Given the description of an element on the screen output the (x, y) to click on. 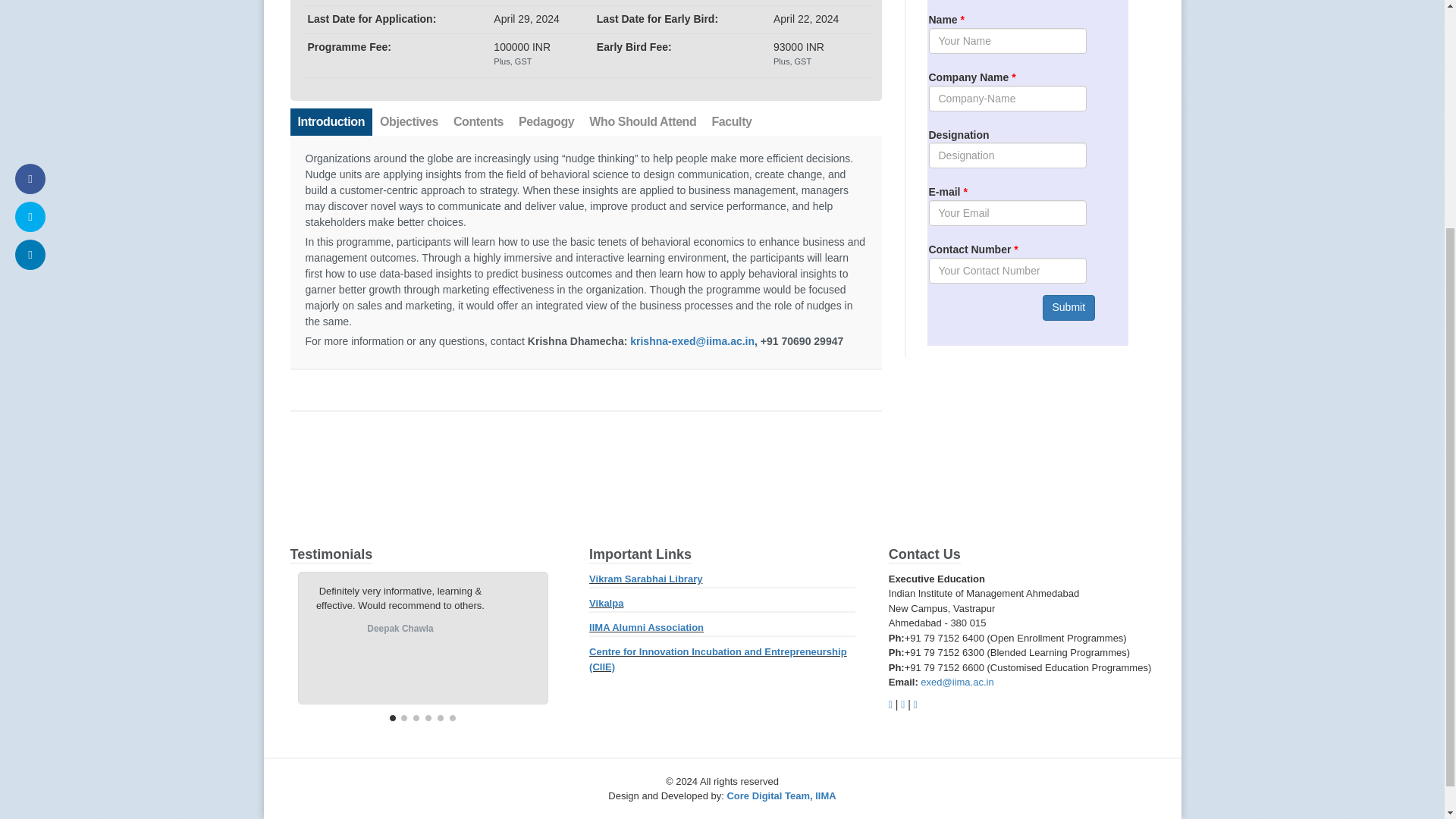
Vikalpa (606, 603)
Faculty (730, 121)
Linkedin (915, 704)
Facebook (890, 704)
Core Digital Team, IIMA (780, 795)
IIMA Alumni Association (646, 626)
Objectives (408, 121)
Who Should Attend (641, 121)
Contents (478, 121)
Vikram Sarabhai Library (645, 578)
Twitter (902, 704)
Submit (1068, 307)
Introduction (330, 121)
Pedagogy (545, 121)
